Given the description of an element on the screen output the (x, y) to click on. 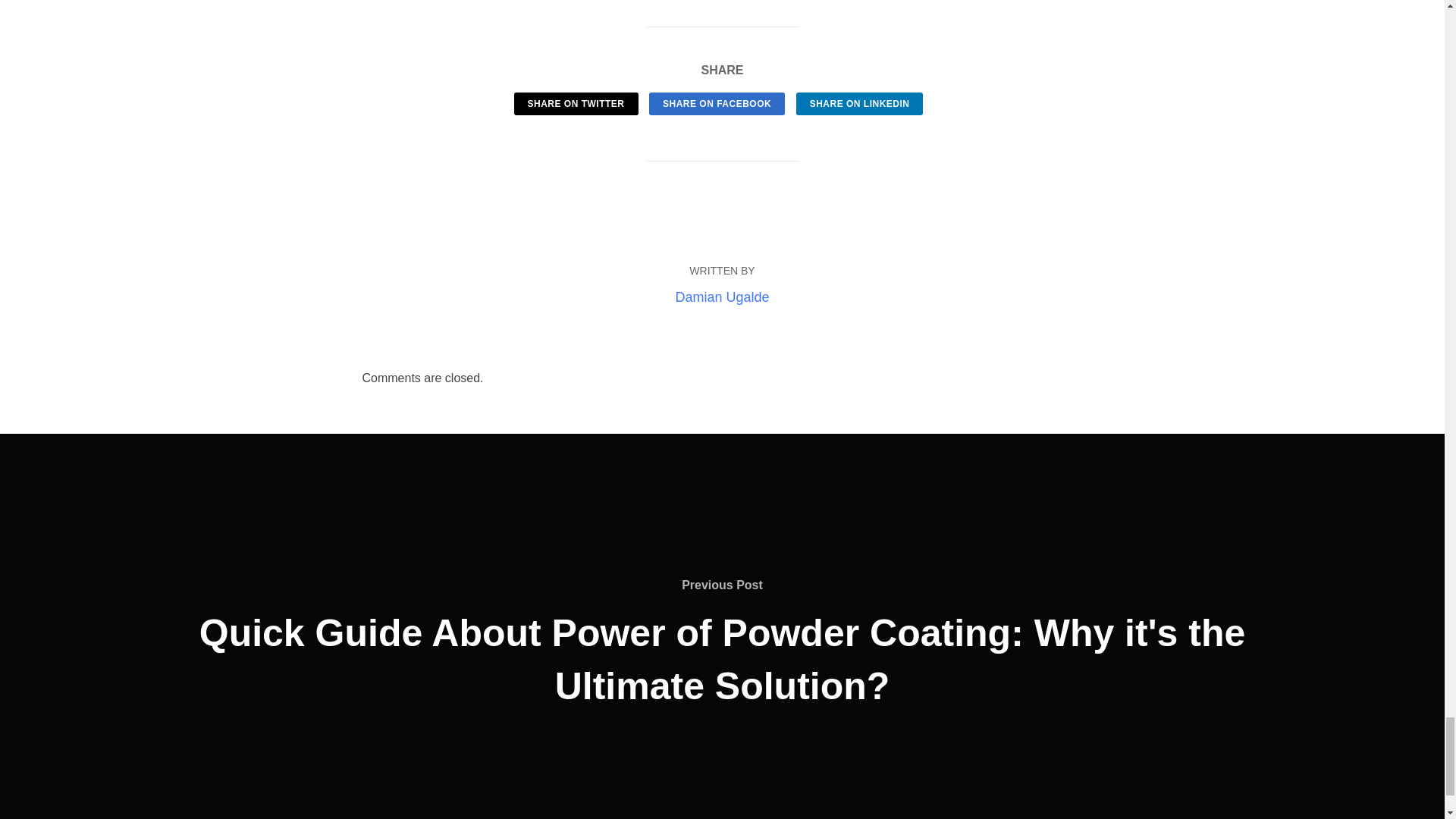
Posts by Damian Ugalde (721, 296)
Share this on Facebook (716, 103)
Share on X (576, 103)
Share on LinkedIn (859, 103)
